Given the description of an element on the screen output the (x, y) to click on. 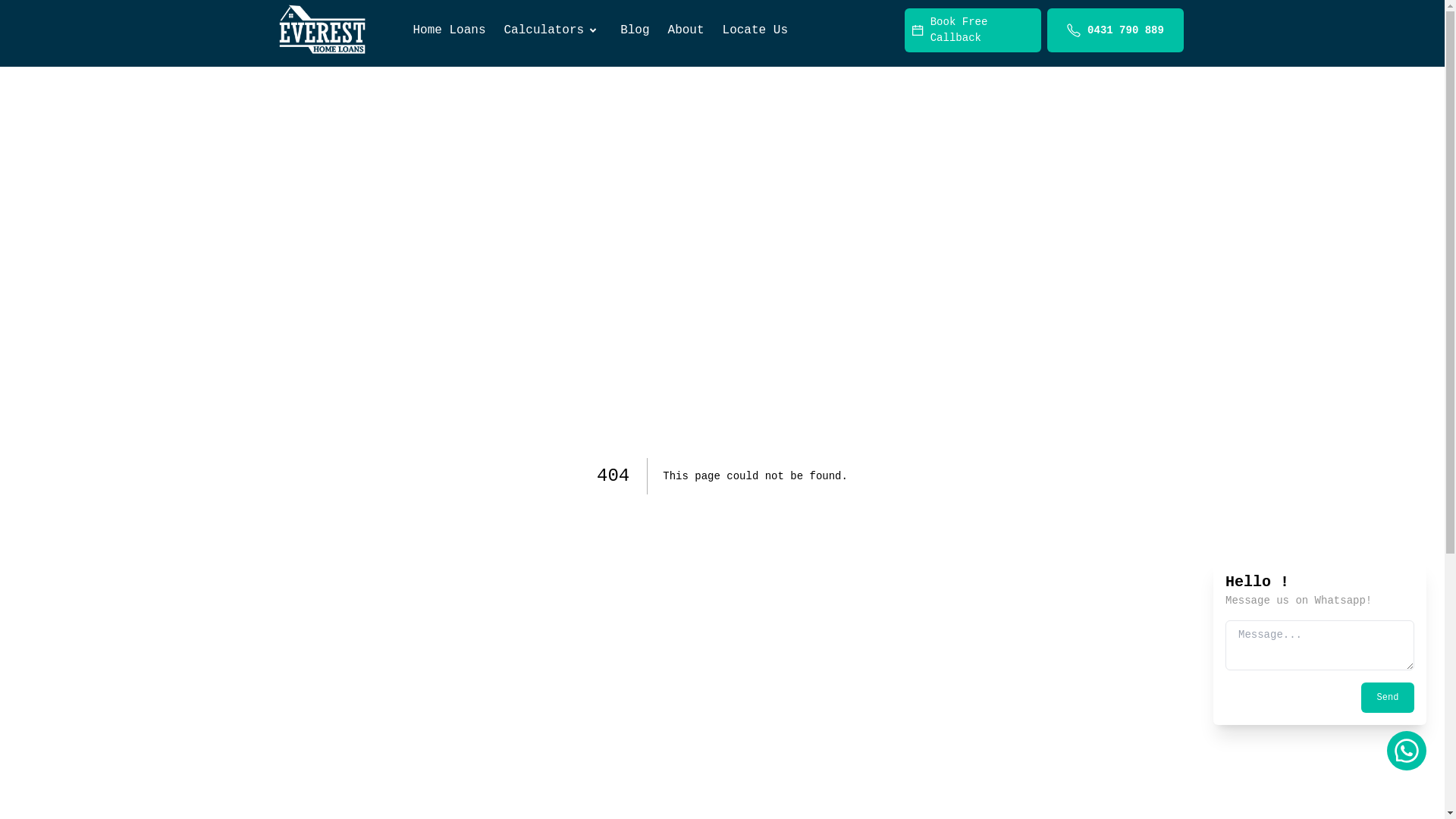
Blog Element type: text (634, 30)
Book Free Callback Element type: text (971, 30)
Send Element type: text (1387, 697)
About Element type: text (686, 30)
Calculators Element type: text (553, 30)
0431 790 889 Element type: text (1114, 30)
Locate Us Element type: text (754, 30)
Home Loans Element type: text (448, 30)
